Given the description of an element on the screen output the (x, y) to click on. 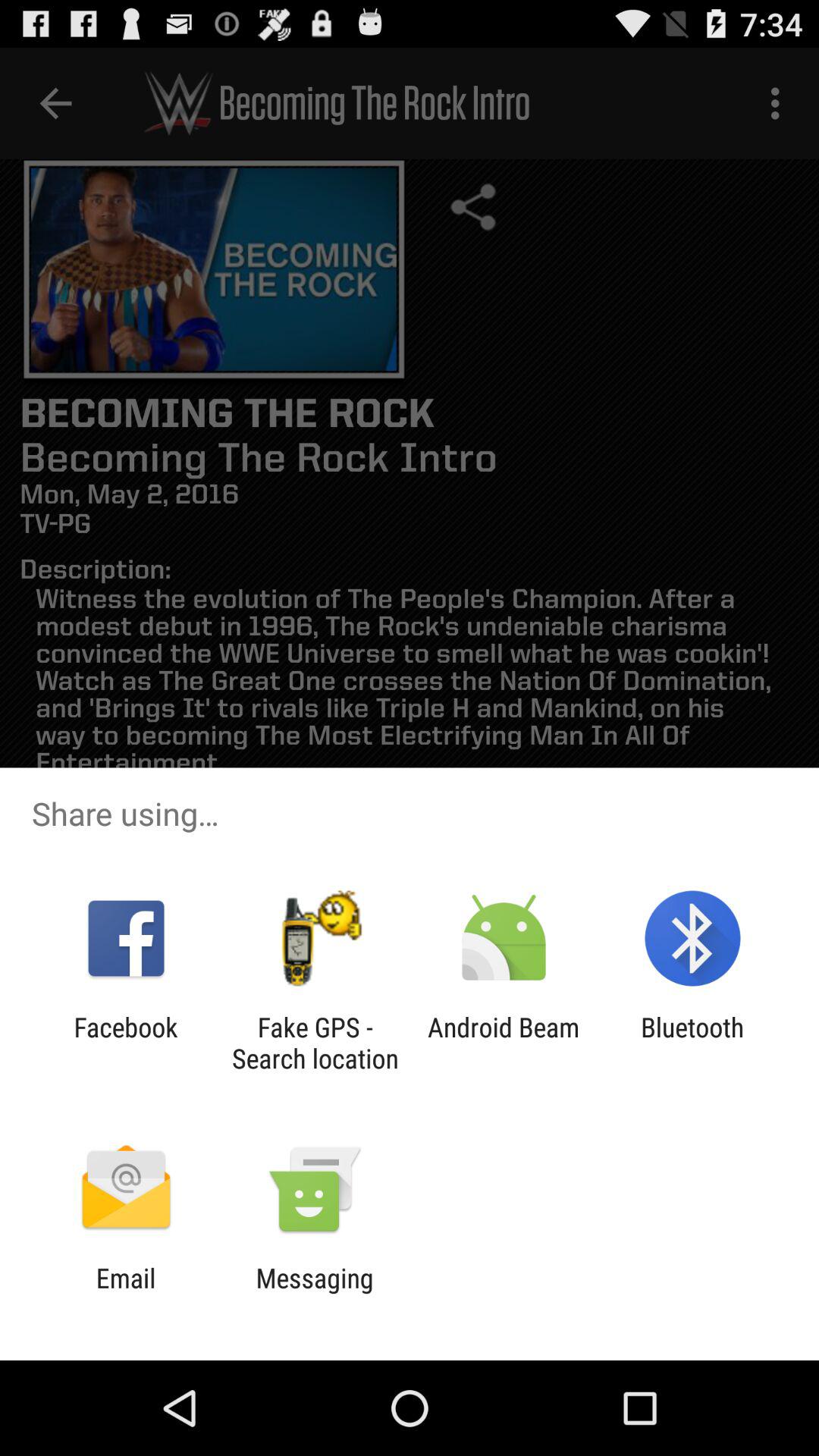
open the email (125, 1293)
